Given the description of an element on the screen output the (x, y) to click on. 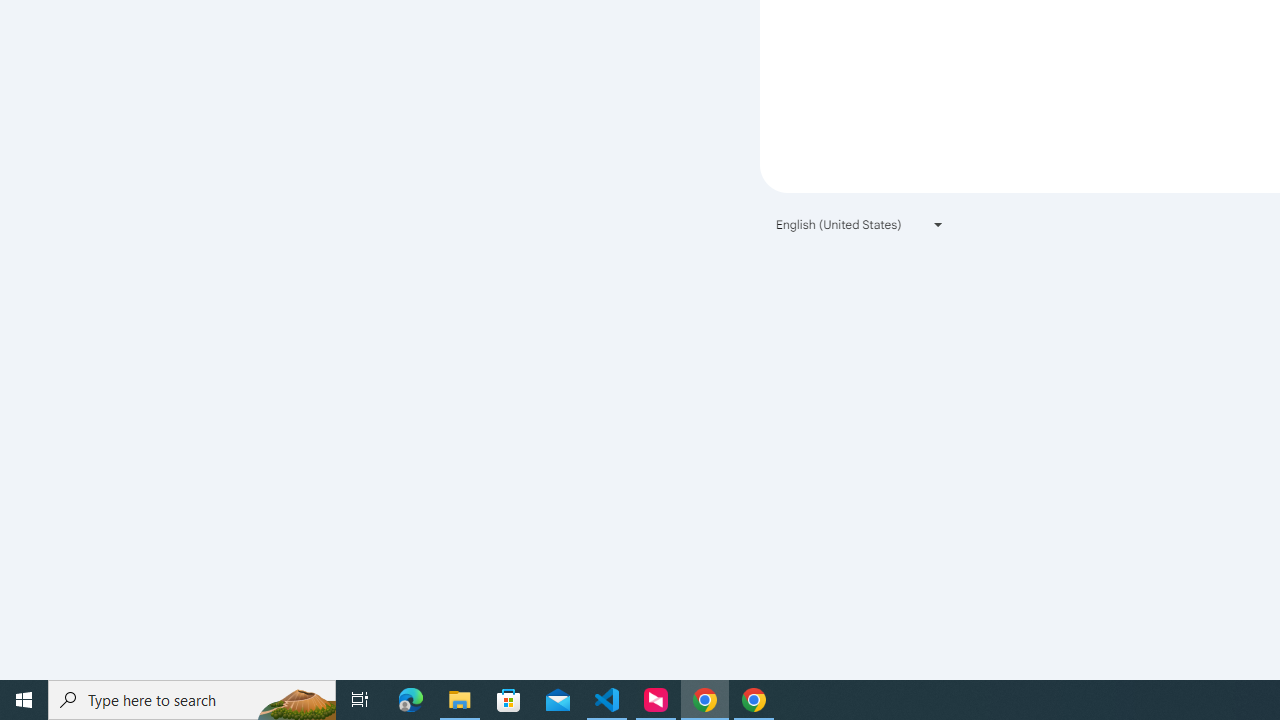
English (United States) (860, 224)
